Given the description of an element on the screen output the (x, y) to click on. 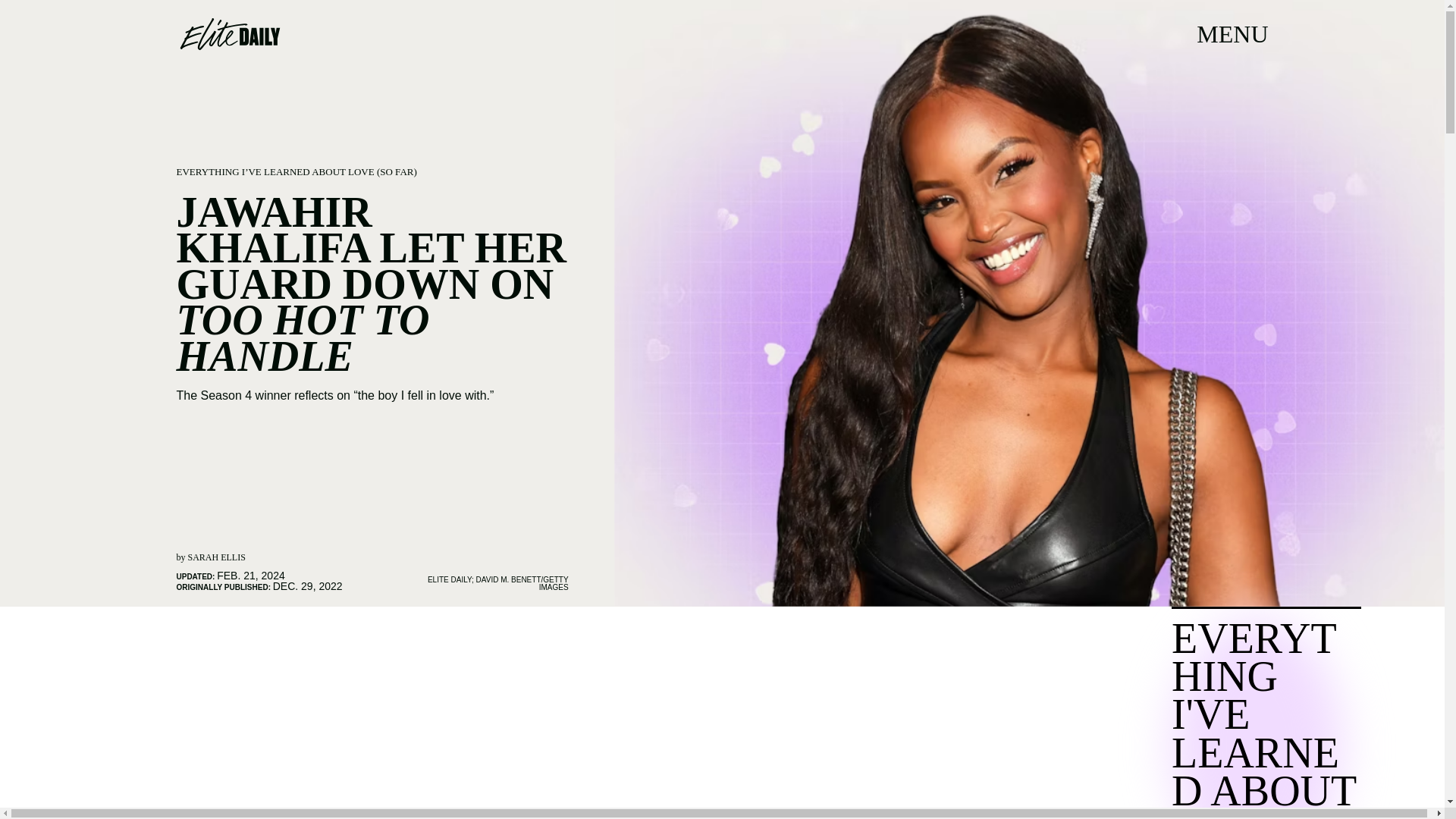
EVERYTHING I'VE LEARNED ABOUT LOVE SO FAR (1285, 712)
SARAH ELLIS (216, 557)
Elite Daily (229, 33)
